Given the description of an element on the screen output the (x, y) to click on. 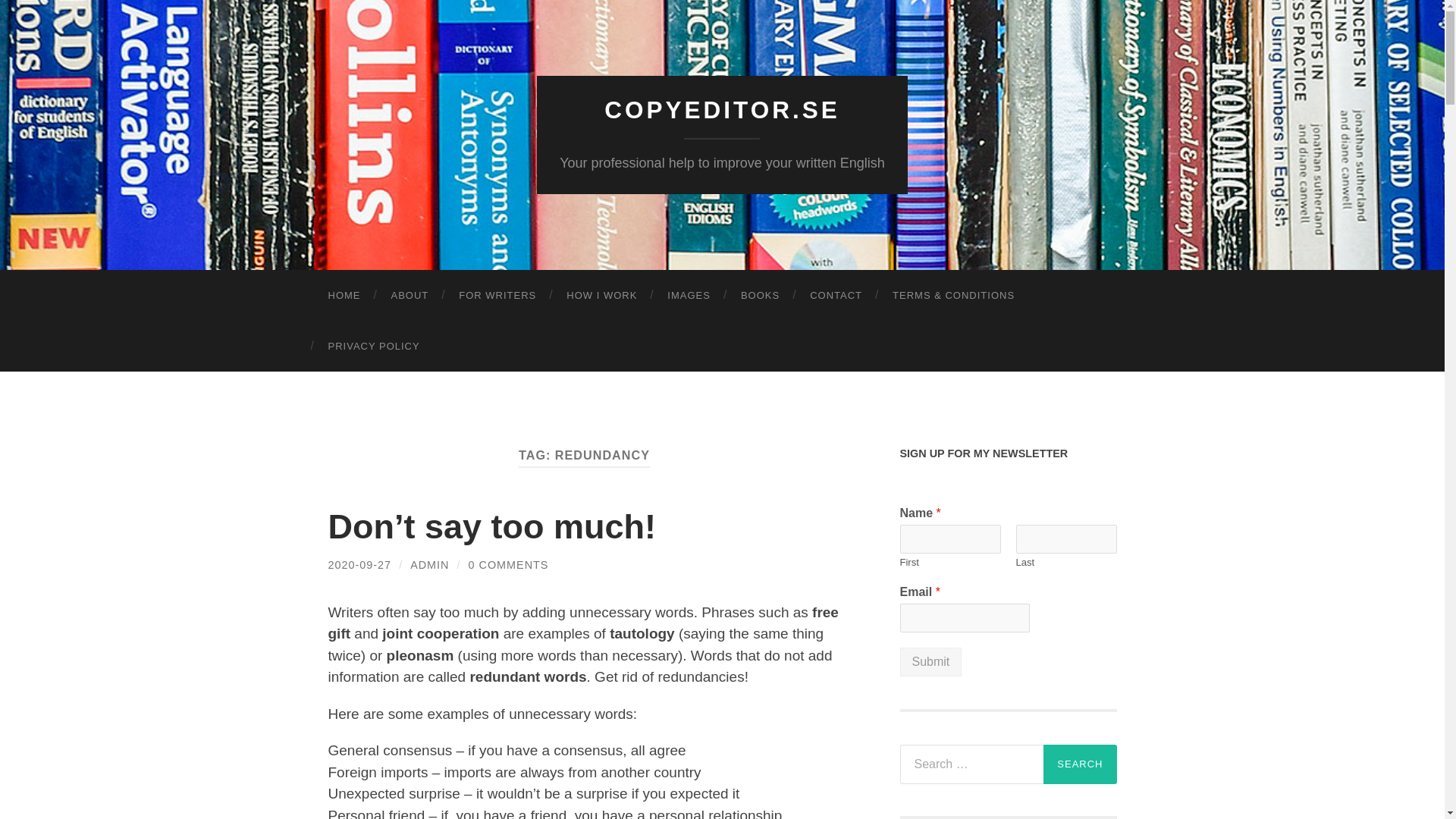
COPYEDITOR.SE (722, 109)
BOOKS (759, 295)
Search (1079, 763)
PRIVACY POLICY (373, 346)
FOR WRITERS (497, 295)
Search (1079, 763)
HOME (344, 295)
Submit (929, 661)
Posts by admin (429, 564)
IMAGES (688, 295)
